Given the description of an element on the screen output the (x, y) to click on. 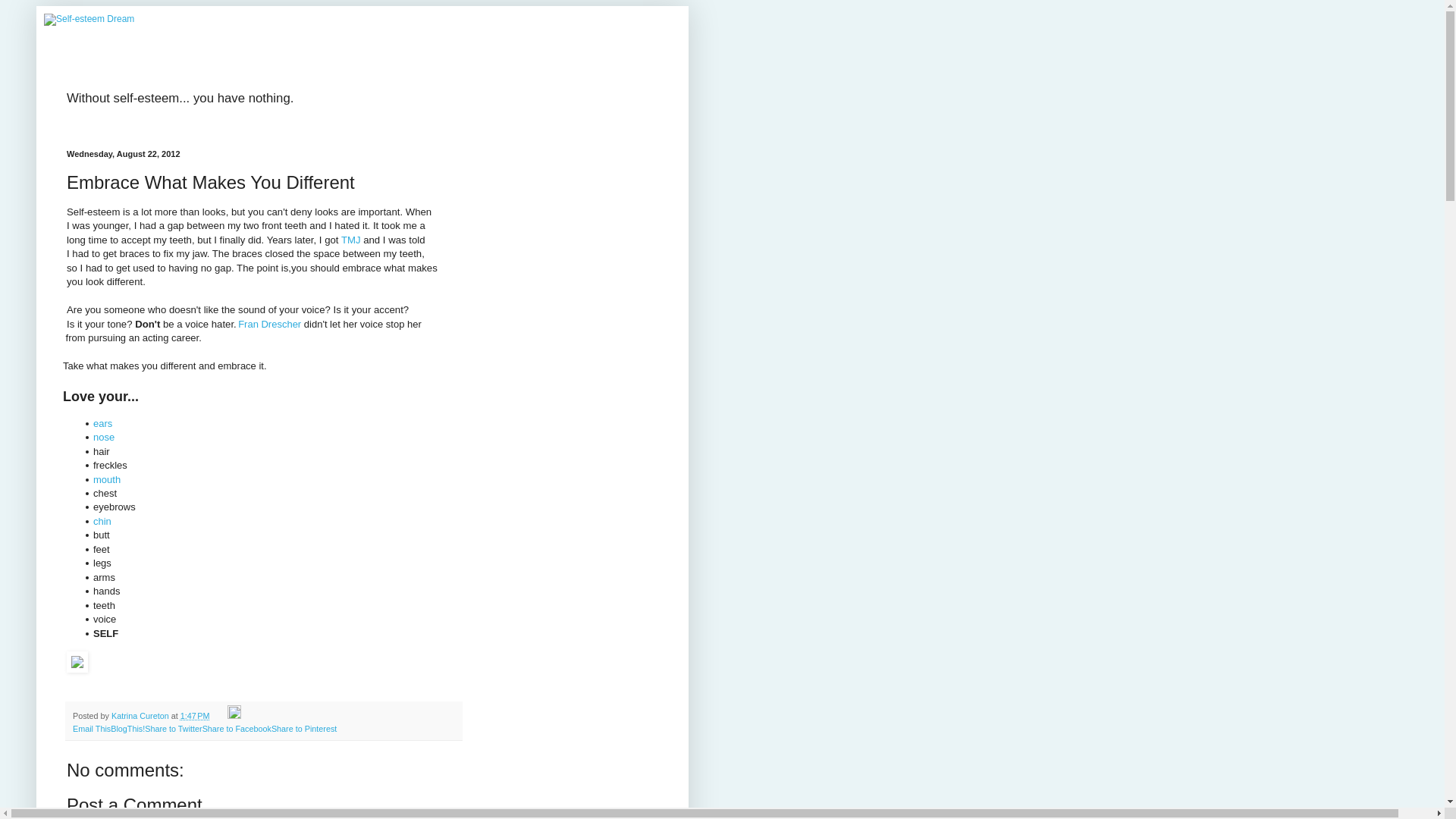
Fran Drescher (269, 324)
Share to Pinterest (303, 728)
Share to Twitter (173, 728)
Email This (91, 728)
Share to Facebook (236, 728)
permanent link (194, 715)
Share to Twitter (173, 728)
Katrina Cureton (141, 715)
Email This (91, 728)
BlogThis! (127, 728)
Share to Pinterest (303, 728)
nose (104, 437)
Edit Post (234, 715)
Share to Facebook (236, 728)
